Given the description of an element on the screen output the (x, y) to click on. 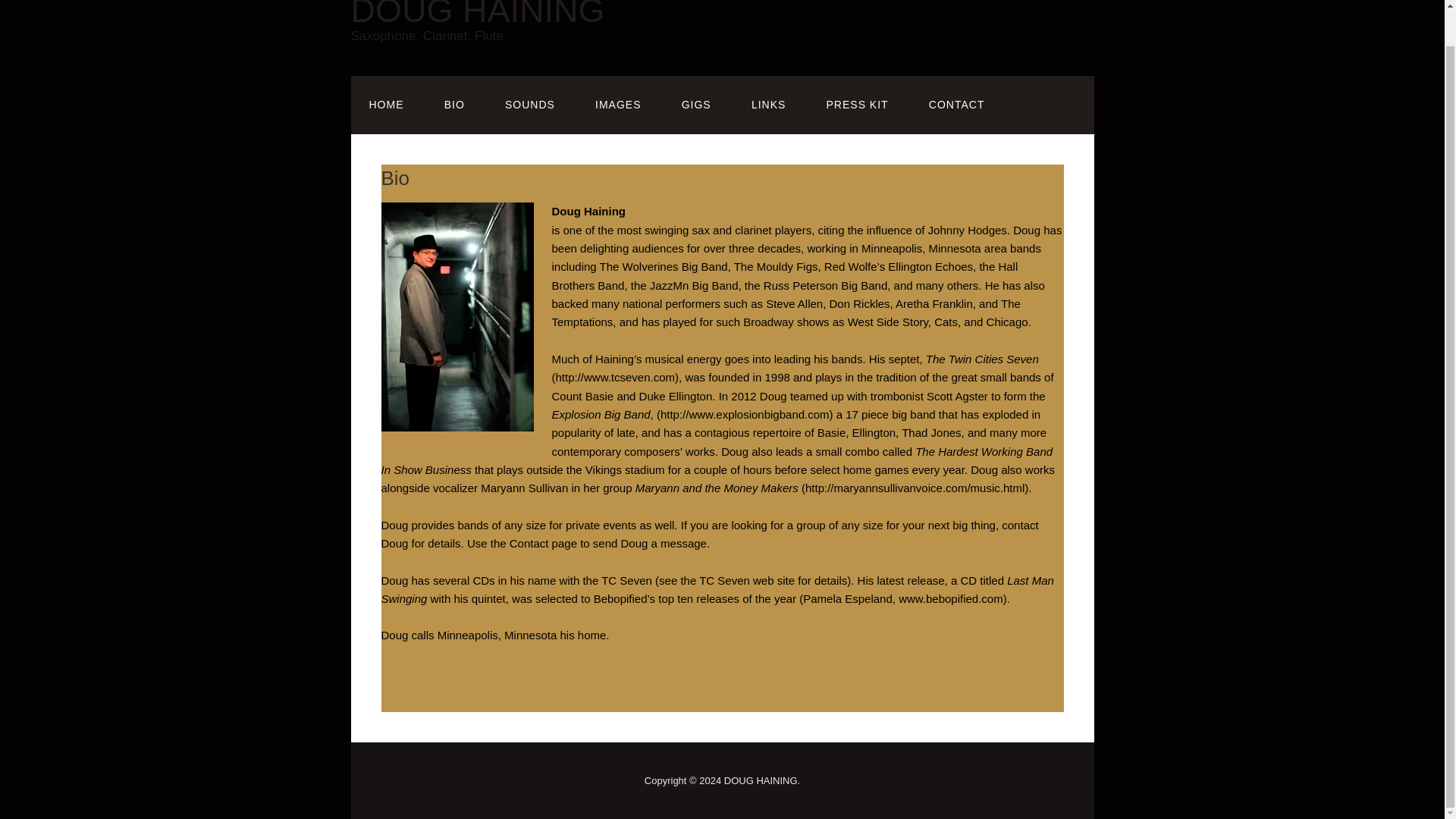
BIO (454, 105)
HOME (386, 105)
DOUG HAINING (477, 14)
SOUNDS (529, 105)
DOUG HAINING (477, 14)
LINKS (768, 105)
IMAGES (617, 105)
CONTACT (957, 105)
PRESS KIT (857, 105)
GIGS (696, 105)
